Given the description of an element on the screen output the (x, y) to click on. 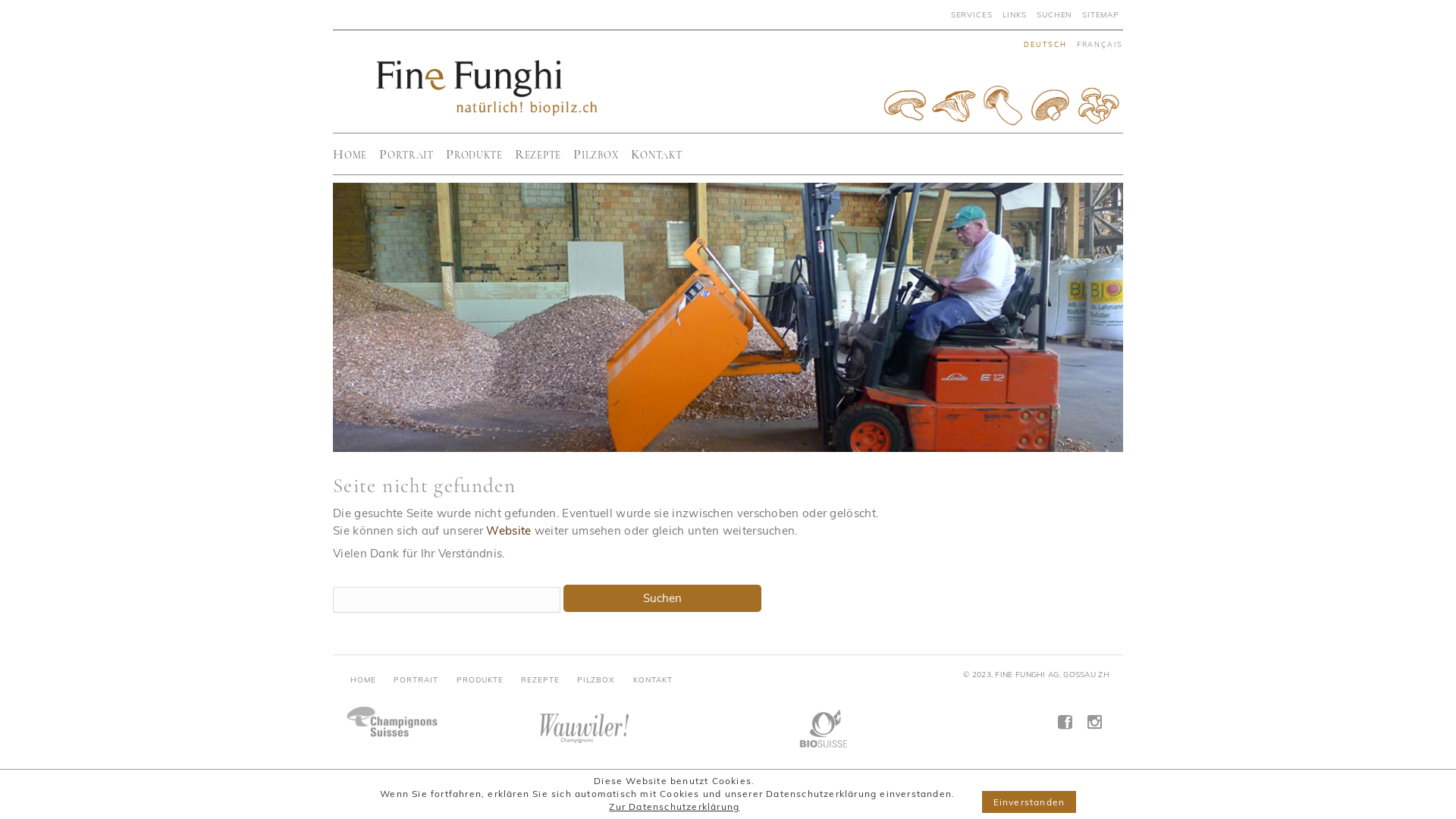
PORTRAIT Element type: text (415, 679)
Produkte Element type: text (479, 153)
Pilzbox Element type: text (601, 153)
PRODUKTE Element type: text (479, 679)
Rezepte Element type: text (543, 153)
deutsch Element type: text (1041, 43)
Suchen Element type: text (661, 597)
Website Element type: text (508, 530)
Home Element type: text (355, 153)
KONTAKT Element type: text (652, 679)
Einverstanden Element type: text (1028, 801)
REZEPTE Element type: text (540, 679)
HOME Element type: text (362, 679)
PILZBOX Element type: text (595, 679)
Kontakt Element type: text (662, 153)
Portrait Element type: text (412, 153)
